Given the description of an element on the screen output the (x, y) to click on. 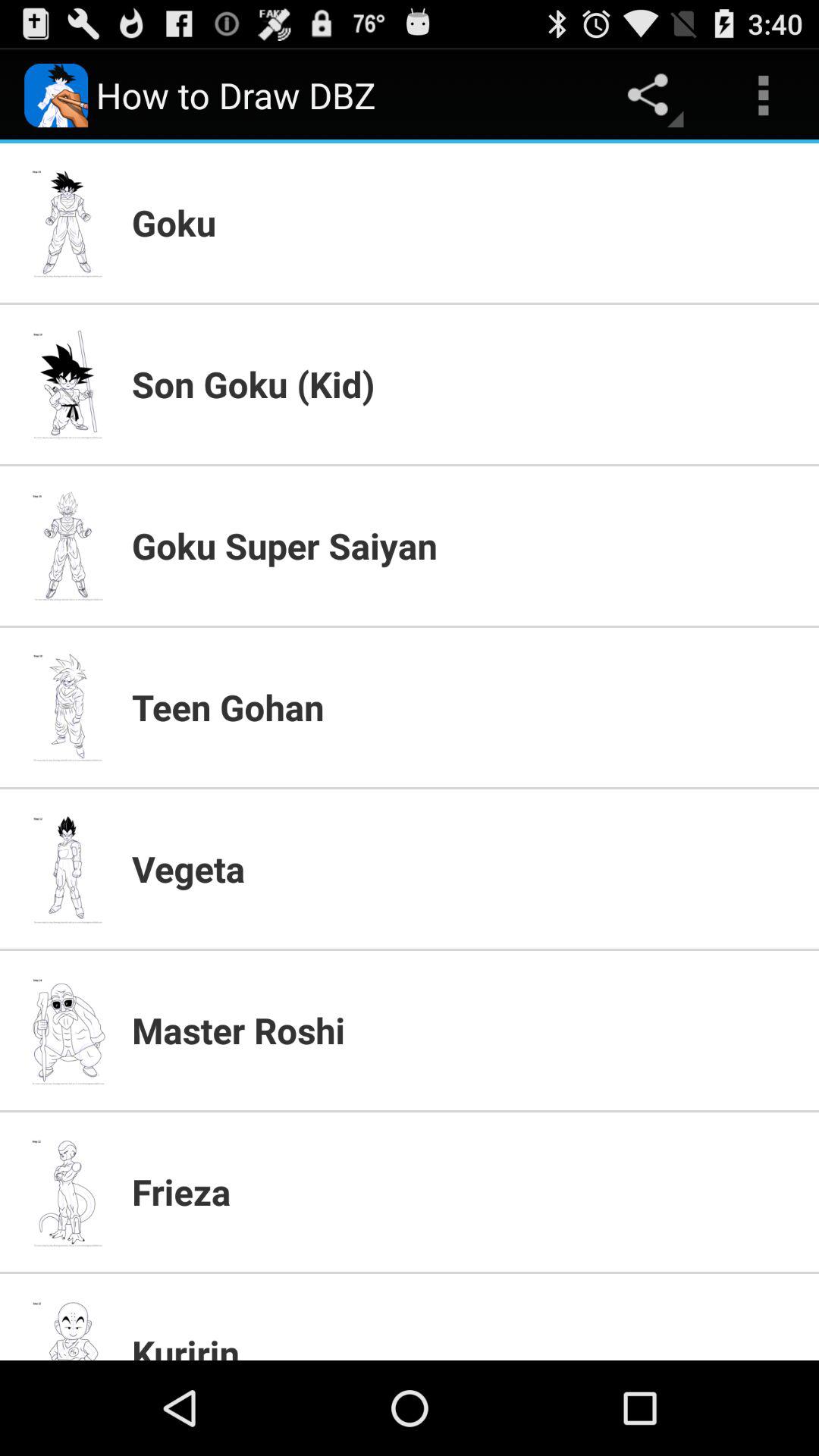
flip until the goku super saiyan (465, 545)
